Given the description of an element on the screen output the (x, y) to click on. 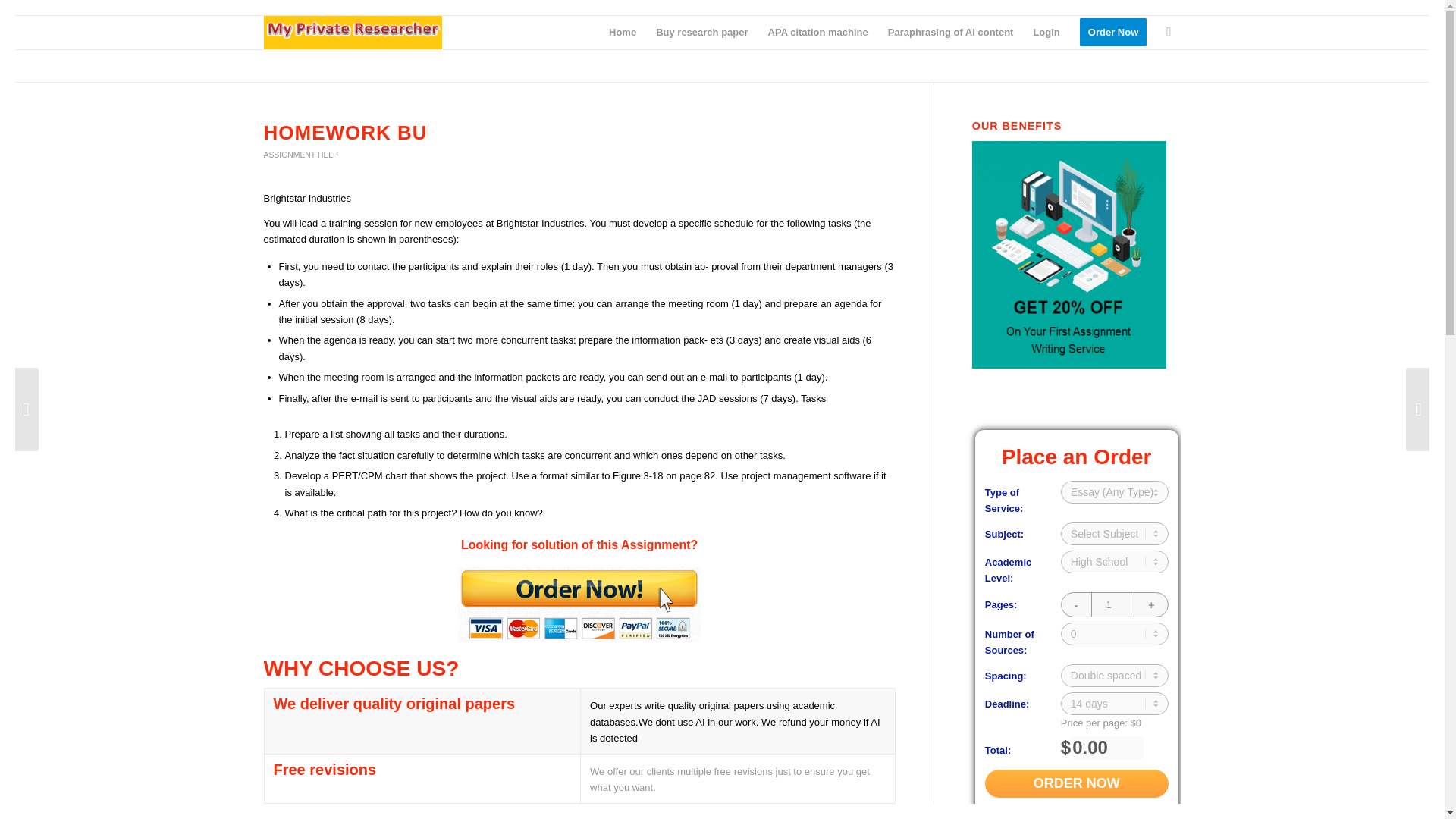
Permanent Link: homework bu (345, 132)
Buy research paper (701, 32)
Home (622, 32)
APA citation machine (817, 32)
Paraphrasing of AI content (950, 32)
Login (1045, 32)
HOMEWORK BU (345, 132)
Order Now (1113, 32)
1 (1115, 604)
0.00 (1106, 747)
